Given the description of an element on the screen output the (x, y) to click on. 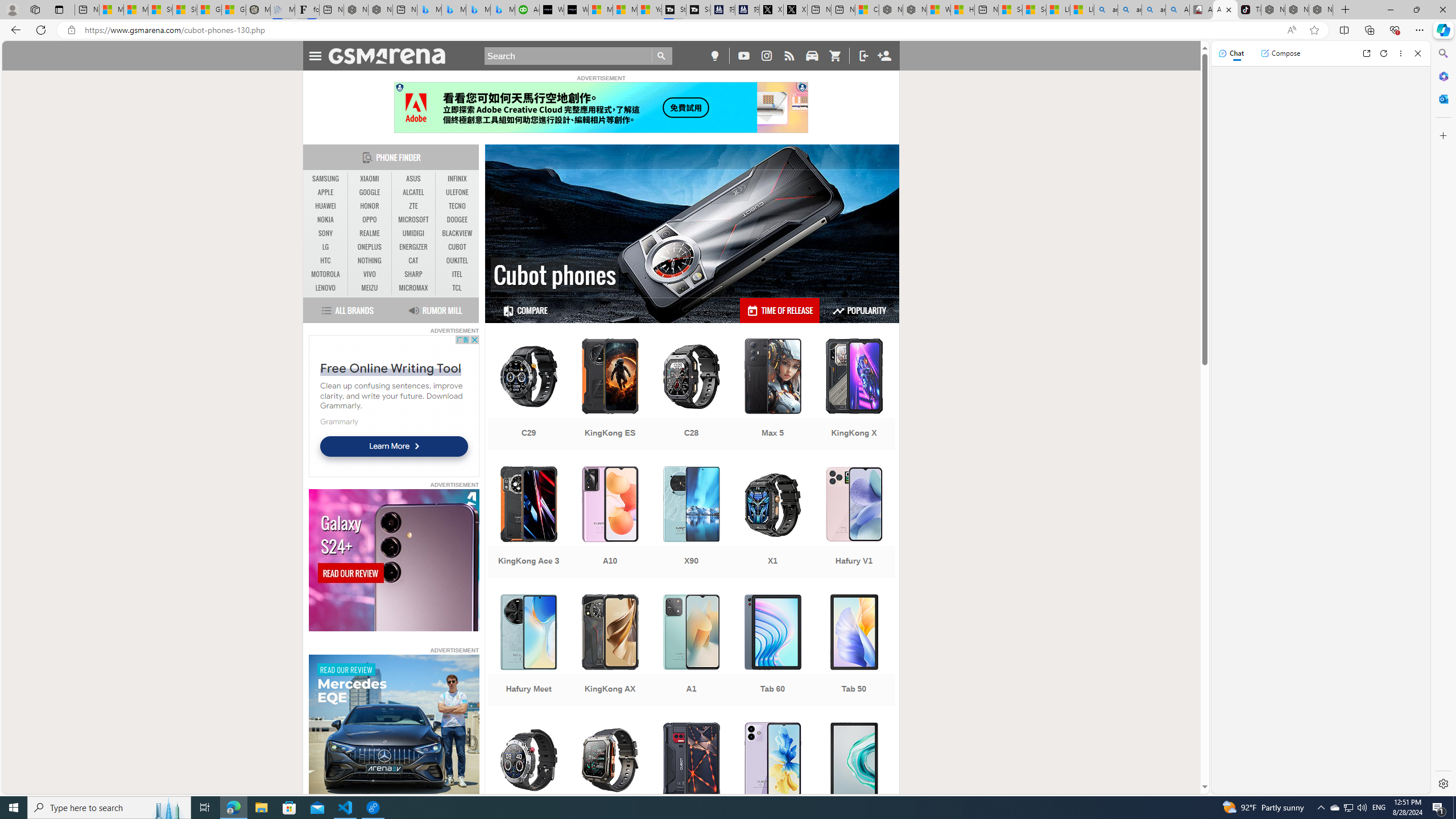
LENOVO (325, 287)
KingKong Ace 3 (528, 523)
LG (325, 246)
Class: qc-adchoices-link top-right  (802, 85)
DOOGEE (457, 219)
BLACKVIEW (457, 233)
Free Online Writing Tool (390, 367)
Click Here (601, 106)
REALME (369, 233)
